Given the description of an element on the screen output the (x, y) to click on. 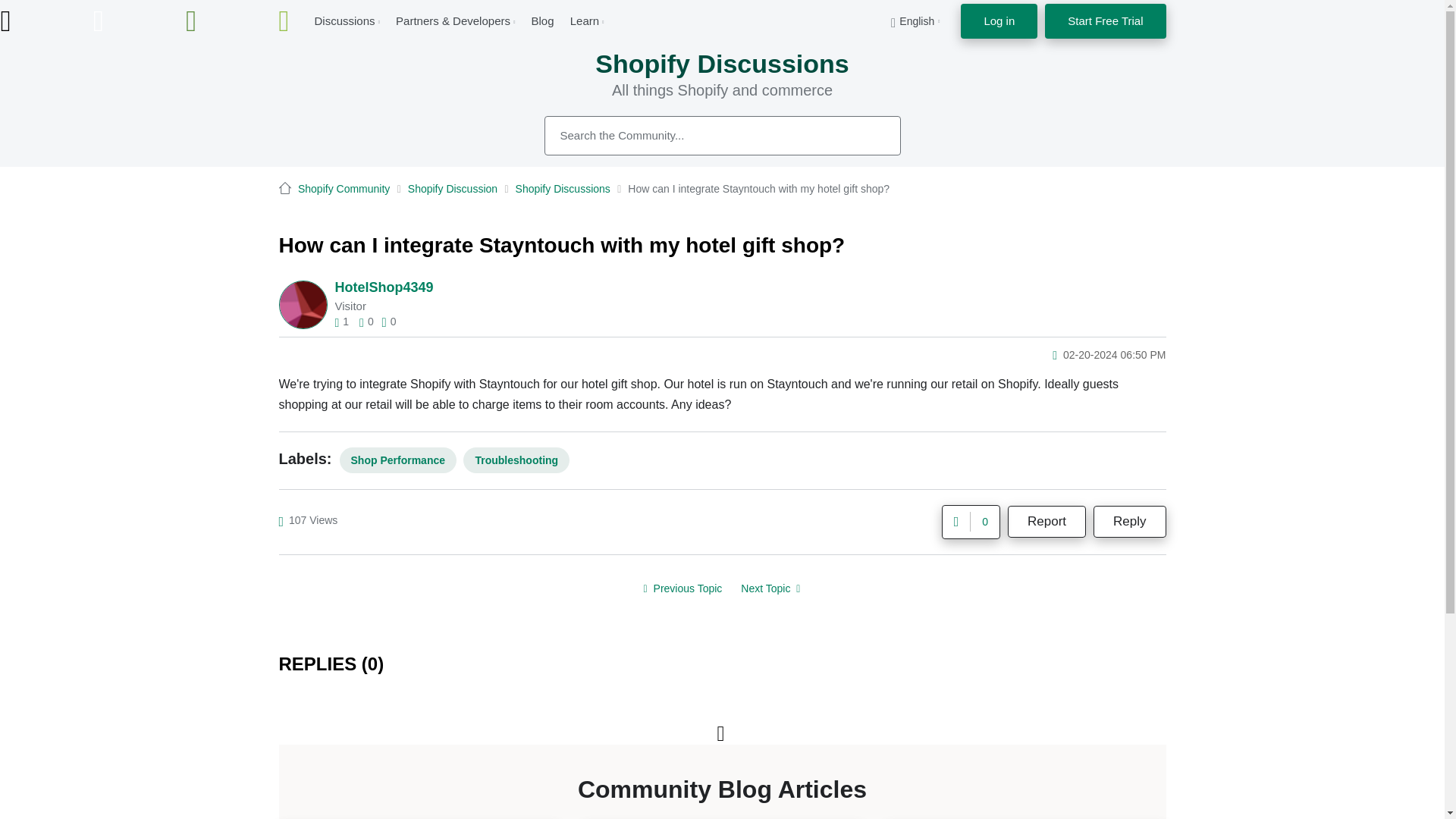
Search (872, 135)
Search (722, 135)
Search (872, 135)
Discussions (344, 20)
